Given the description of an element on the screen output the (x, y) to click on. 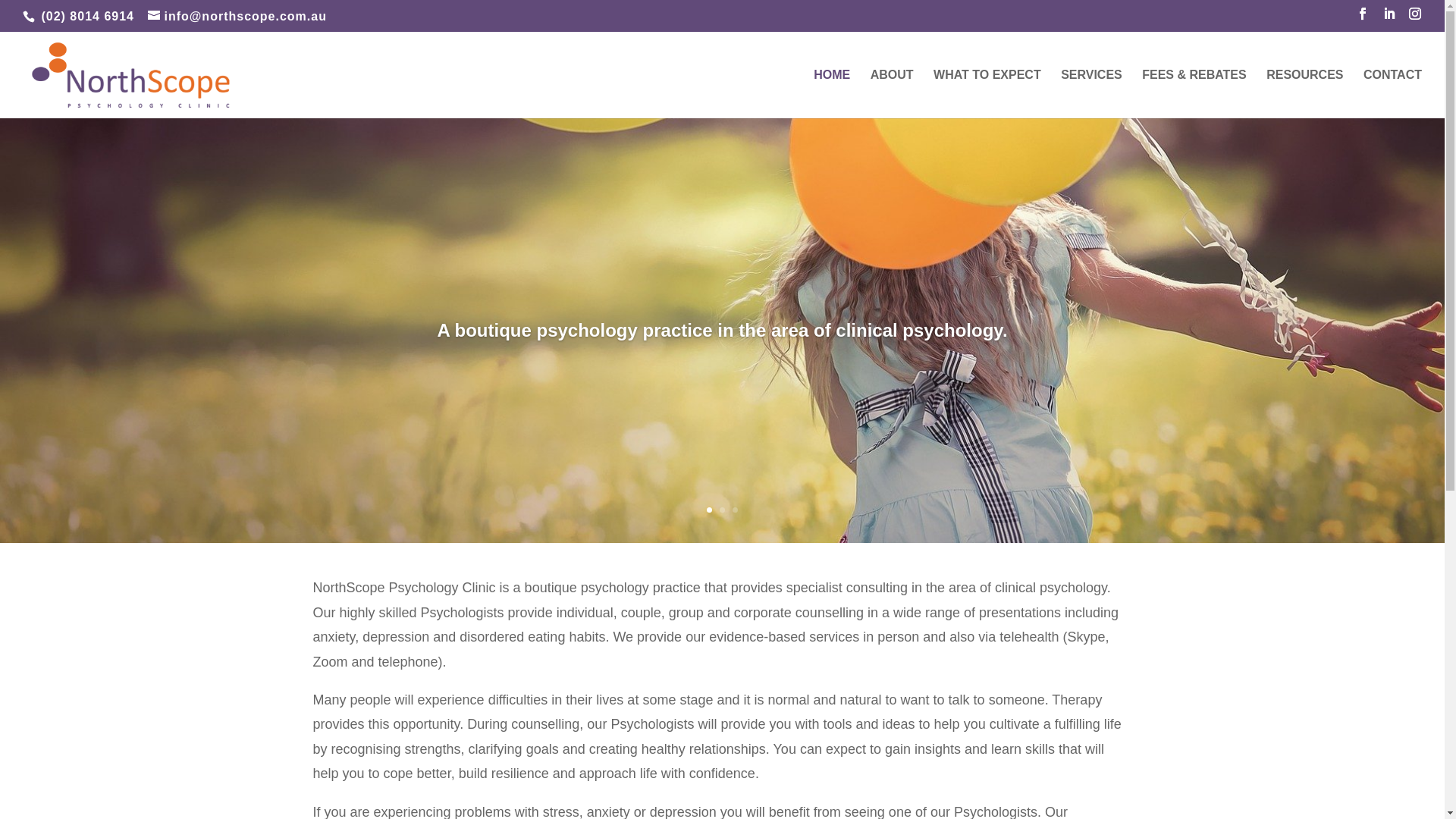
ABOUT Element type: text (891, 93)
SERVICES Element type: text (1091, 93)
1 Element type: text (709, 509)
WHAT TO EXPECT Element type: text (987, 93)
3 Element type: text (734, 509)
HOME Element type: text (831, 93)
info@northscope.com.au Element type: text (236, 15)
CONTACT Element type: text (1392, 93)
RESOURCES Element type: text (1304, 93)
2 Element type: text (721, 509)
FEES & REBATES Element type: text (1194, 93)
